Given the description of an element on the screen output the (x, y) to click on. 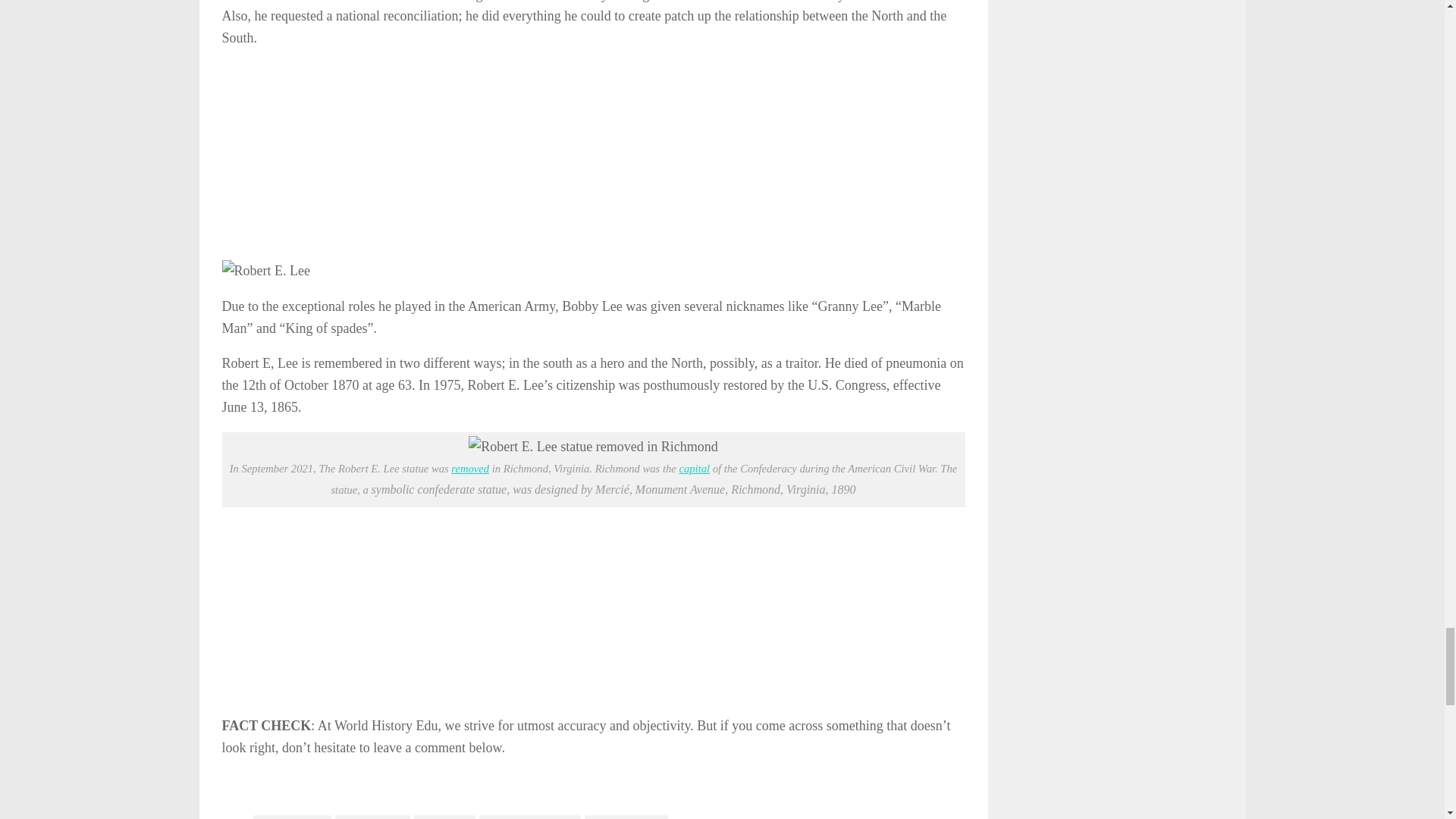
Military Generals (372, 816)
Robert E. Lee Biography (529, 816)
capital (694, 468)
Robert E. Lee (444, 816)
removed (470, 468)
Confederate Army (292, 816)
Robert E. Lee Facts (625, 816)
